Given the description of an element on the screen output the (x, y) to click on. 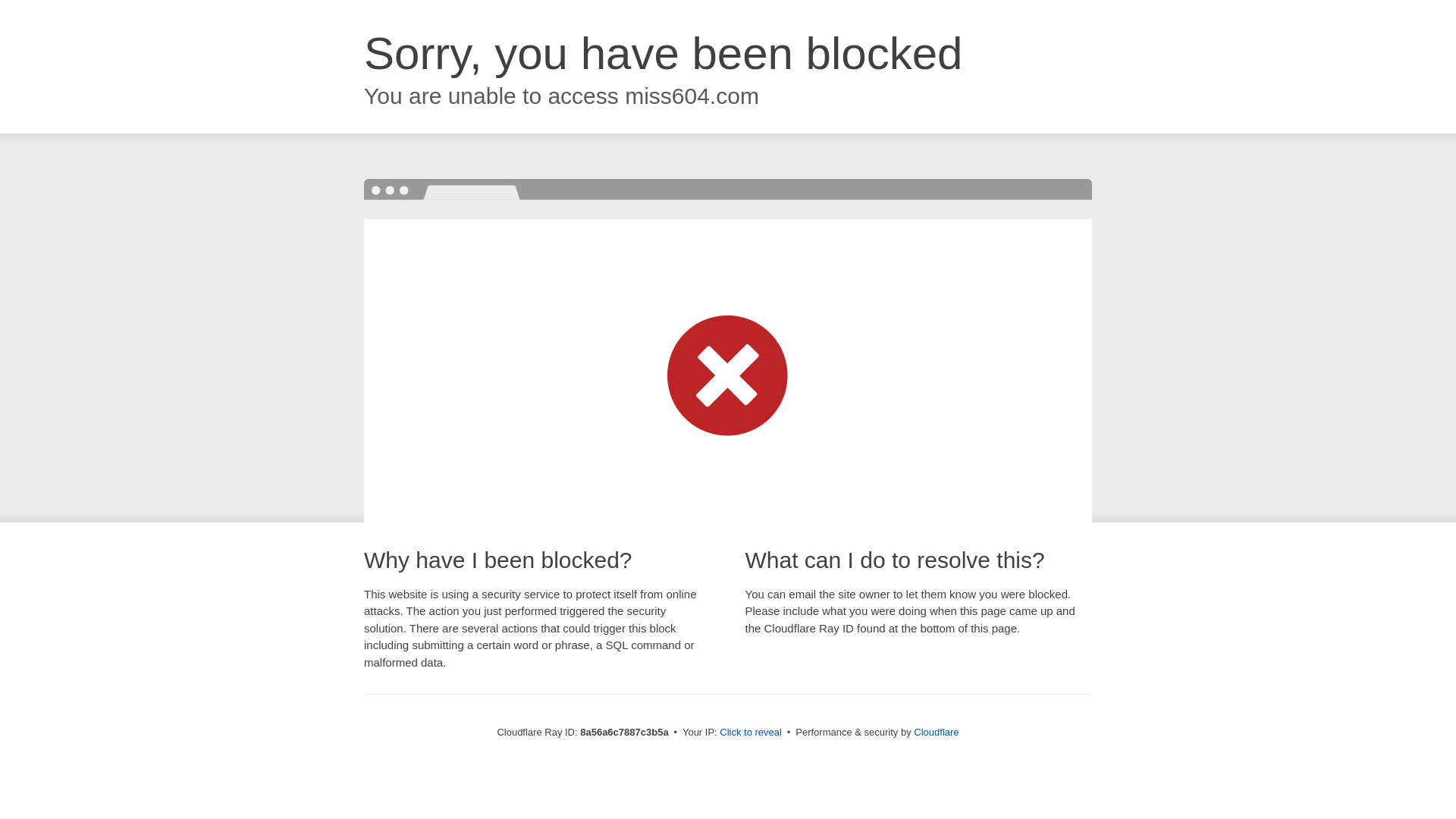
Cloudflare (936, 731)
Click to reveal (750, 732)
